Given the description of an element on the screen output the (x, y) to click on. 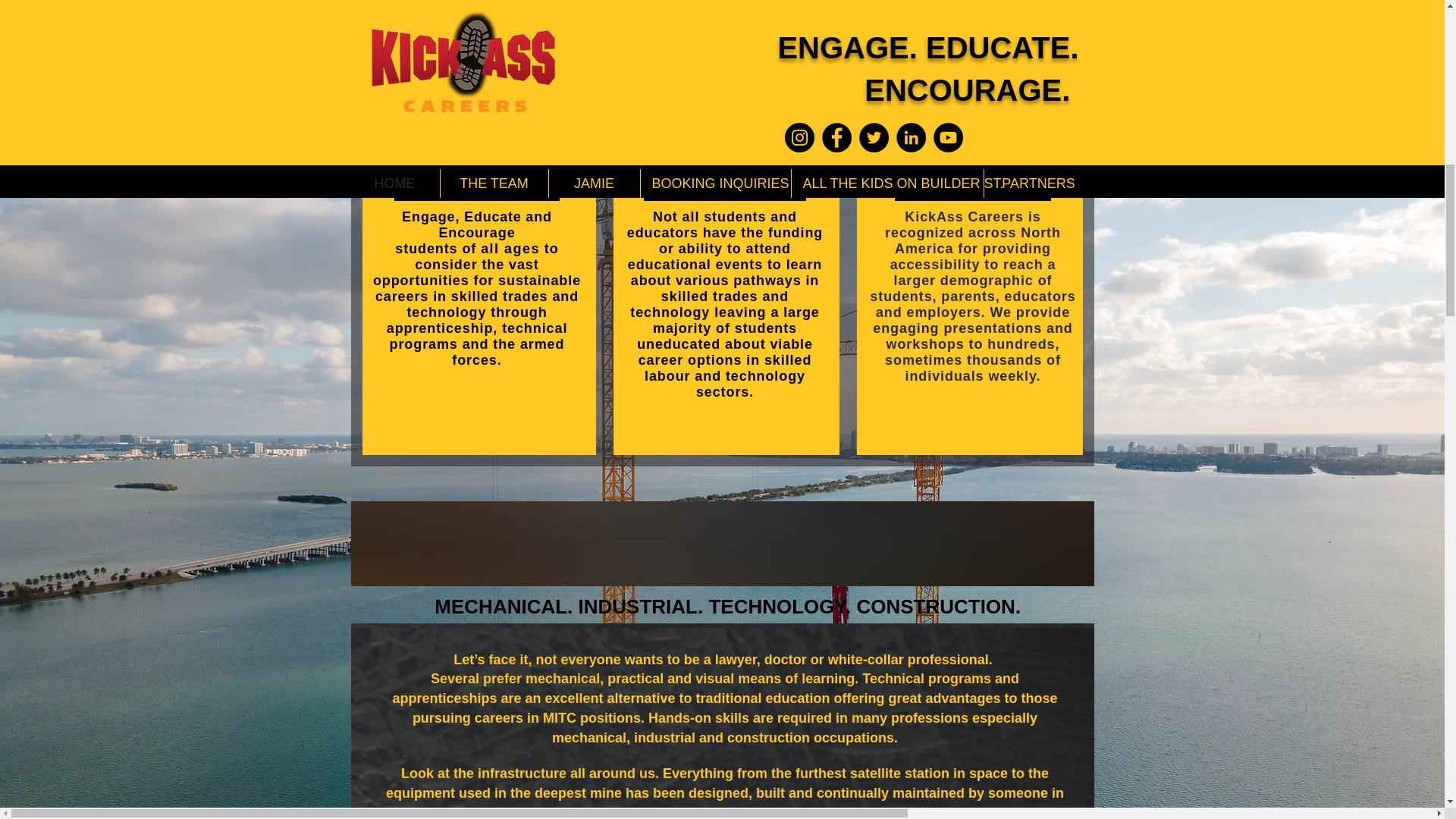
MORE INFO (890, 3)
